Given the description of an element on the screen output the (x, y) to click on. 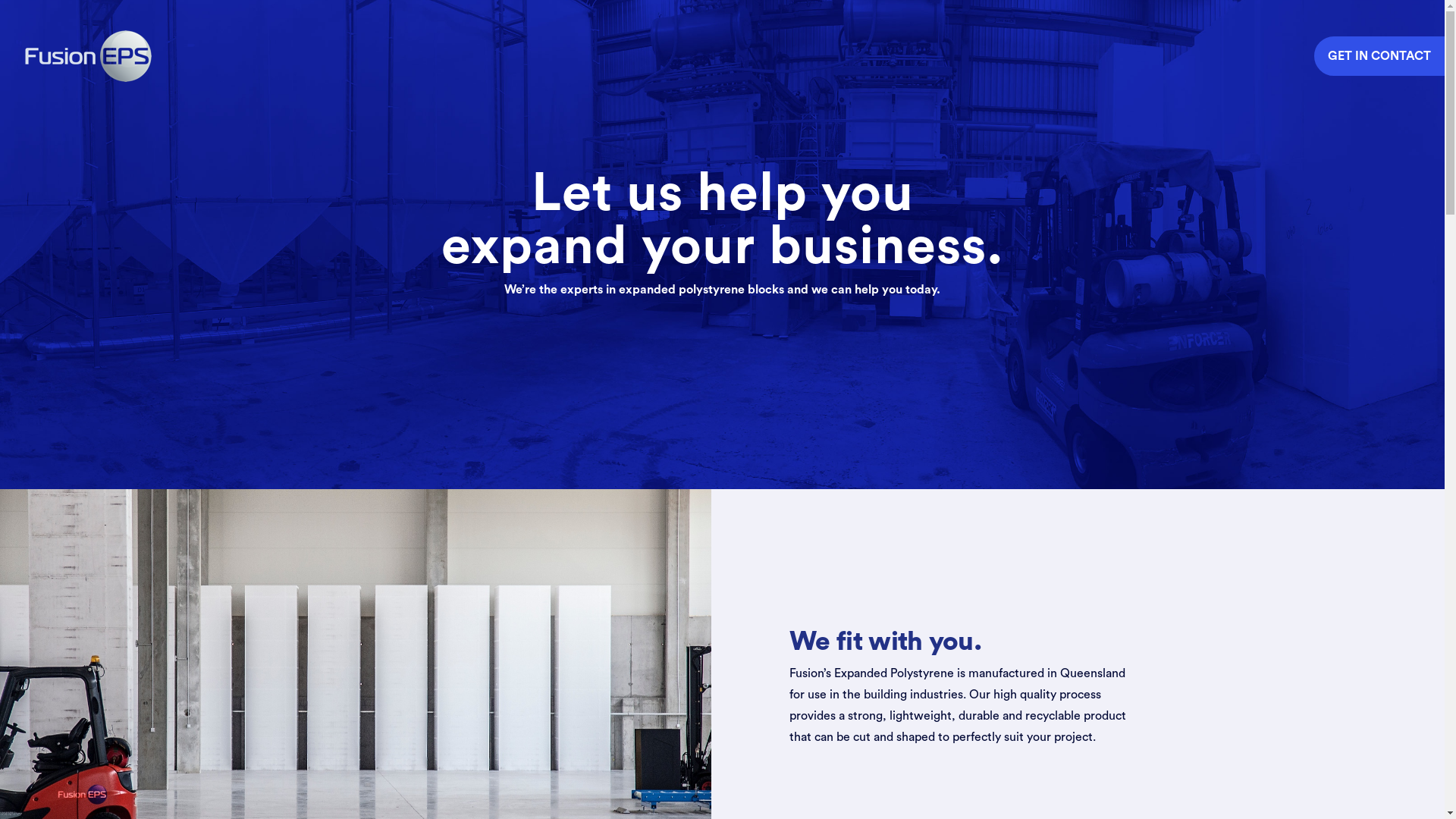
GET IN CONTACT Element type: text (1379, 55)
